Given the description of an element on the screen output the (x, y) to click on. 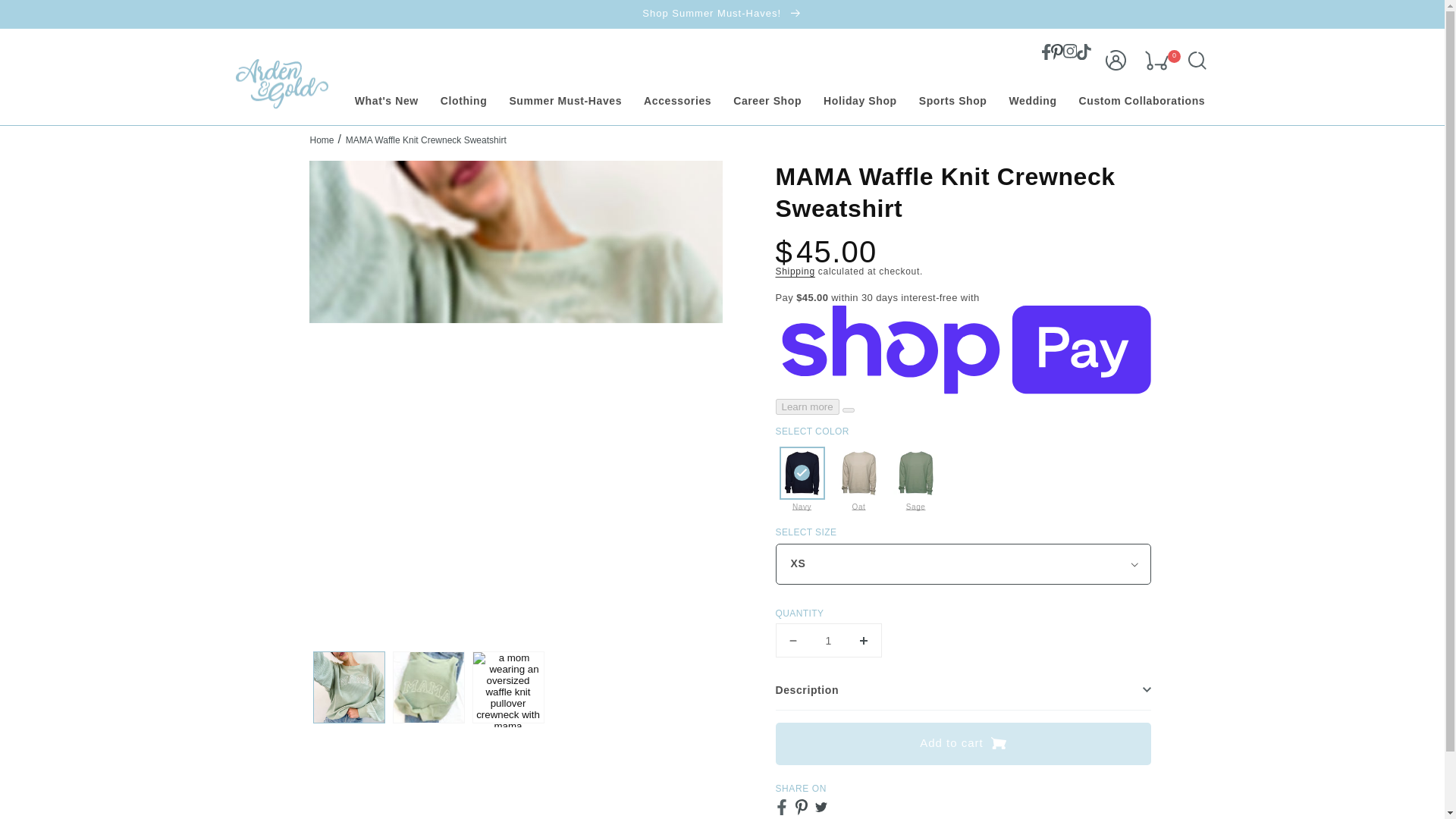
Skip to content (45, 16)
1 (827, 640)
